Given the description of an element on the screen output the (x, y) to click on. 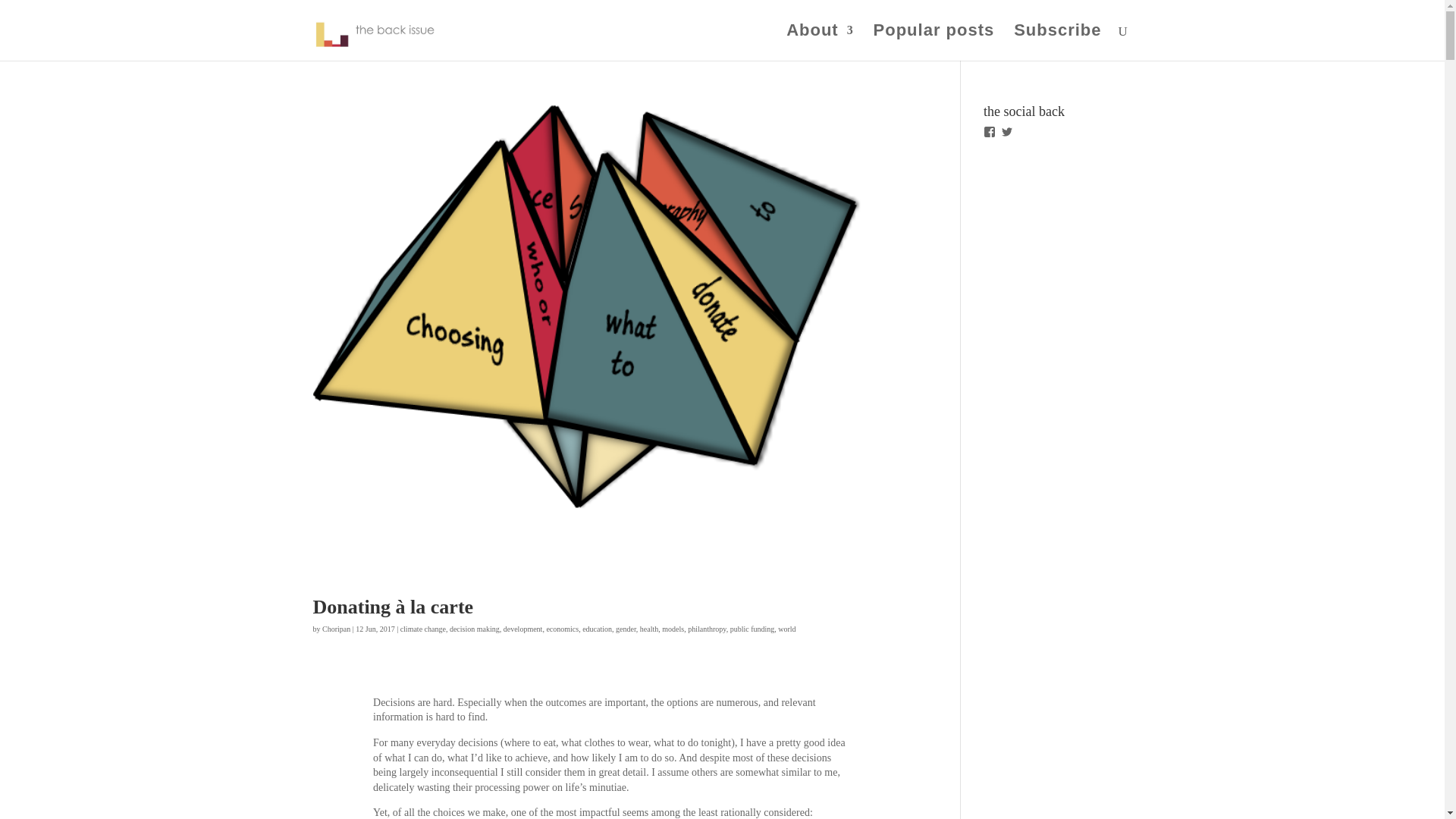
public funding (752, 628)
Popular posts (933, 42)
Posts by Choripan (335, 628)
climate change (422, 628)
economics (562, 628)
development (523, 628)
About (819, 42)
Subscribe (1056, 42)
Choripan (335, 628)
models (673, 628)
philanthropy (706, 628)
education (596, 628)
world (785, 628)
health (649, 628)
decision making (474, 628)
